Given the description of an element on the screen output the (x, y) to click on. 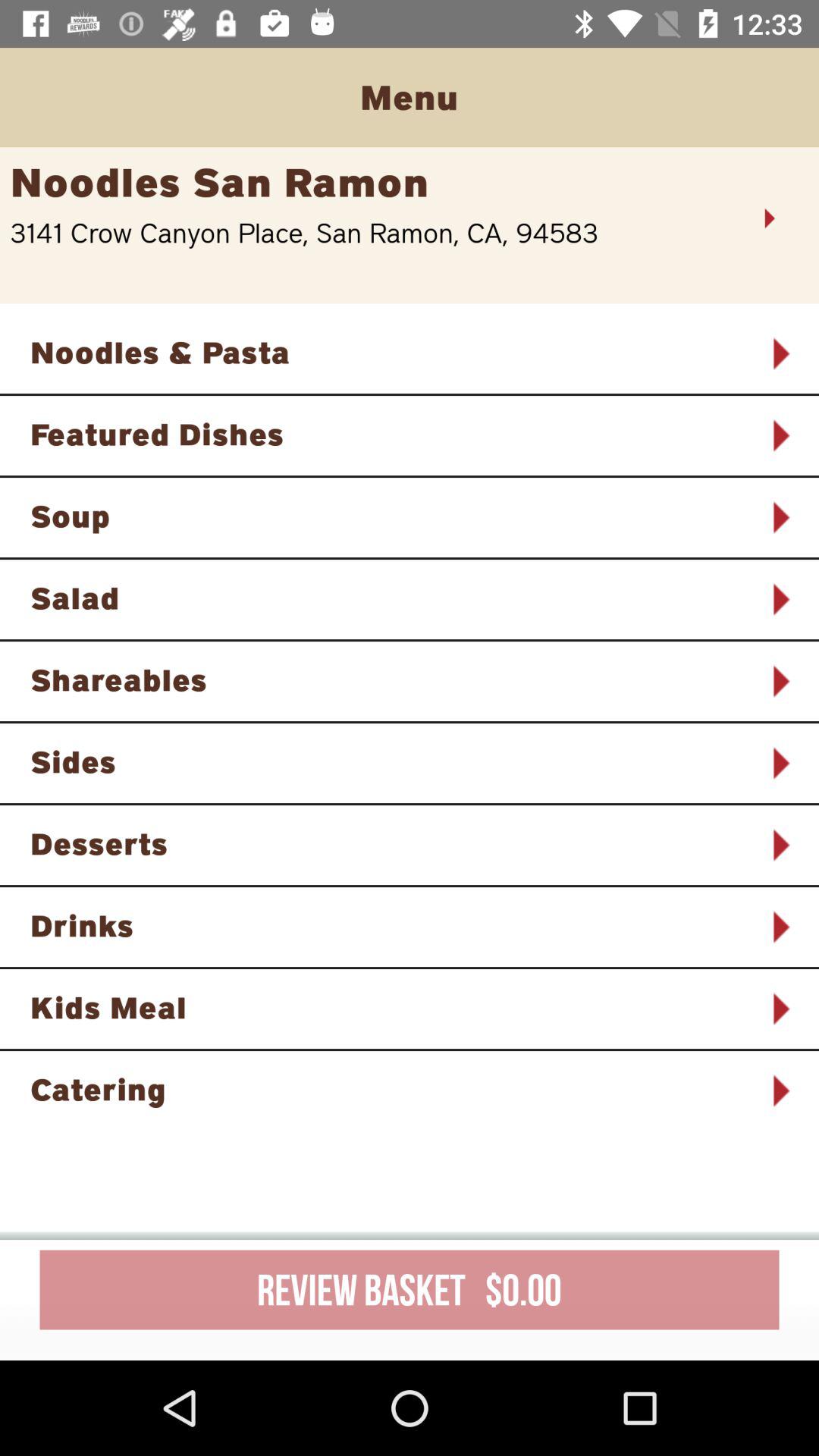
tap icon next to the catering  icon (779, 1090)
